Given the description of an element on the screen output the (x, y) to click on. 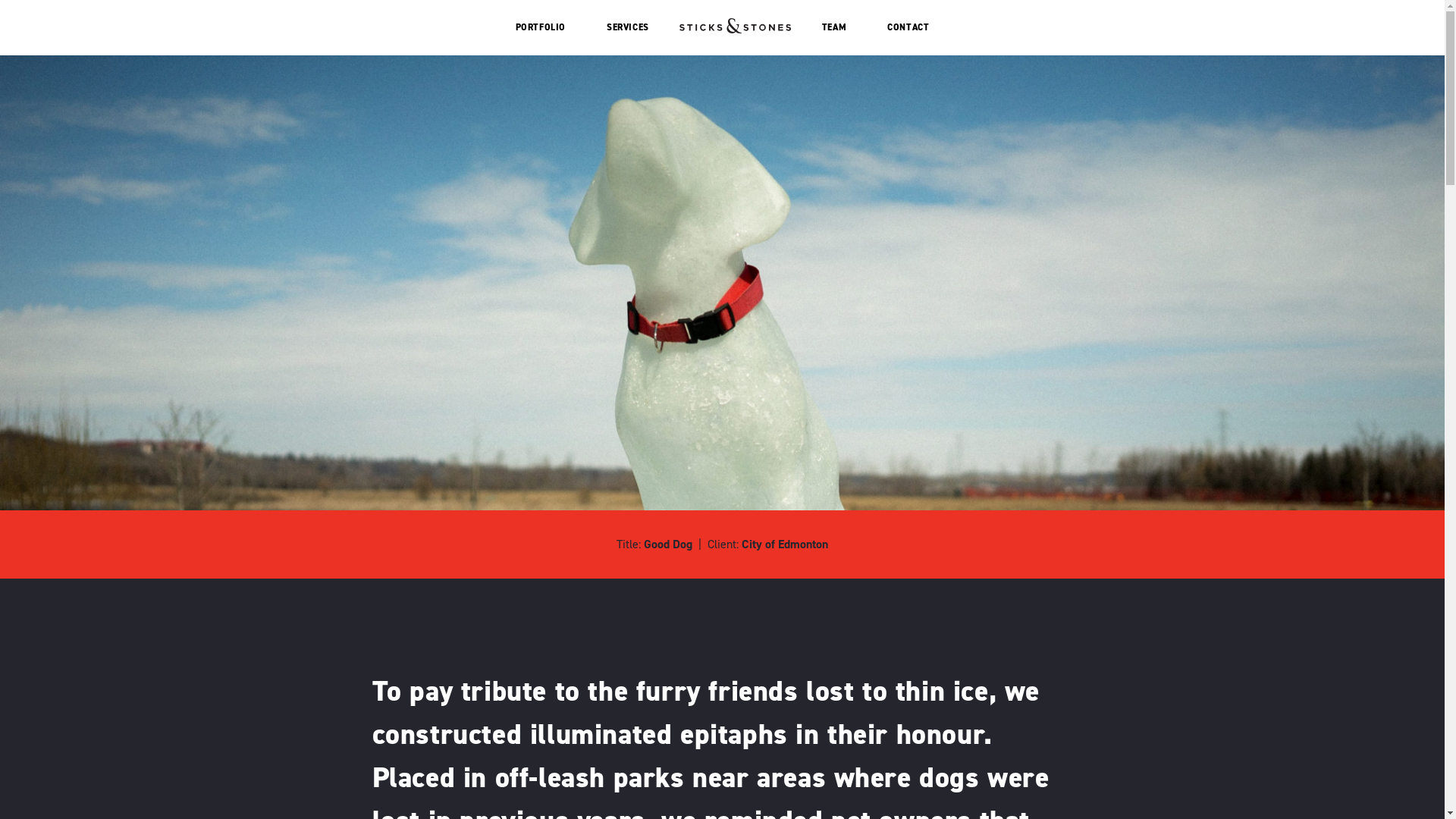
CONTACT Element type: text (907, 27)
PORTFOLIO Element type: text (540, 27)
TEAM Element type: text (833, 27)
SERVICES Element type: text (627, 27)
